Given the description of an element on the screen output the (x, y) to click on. 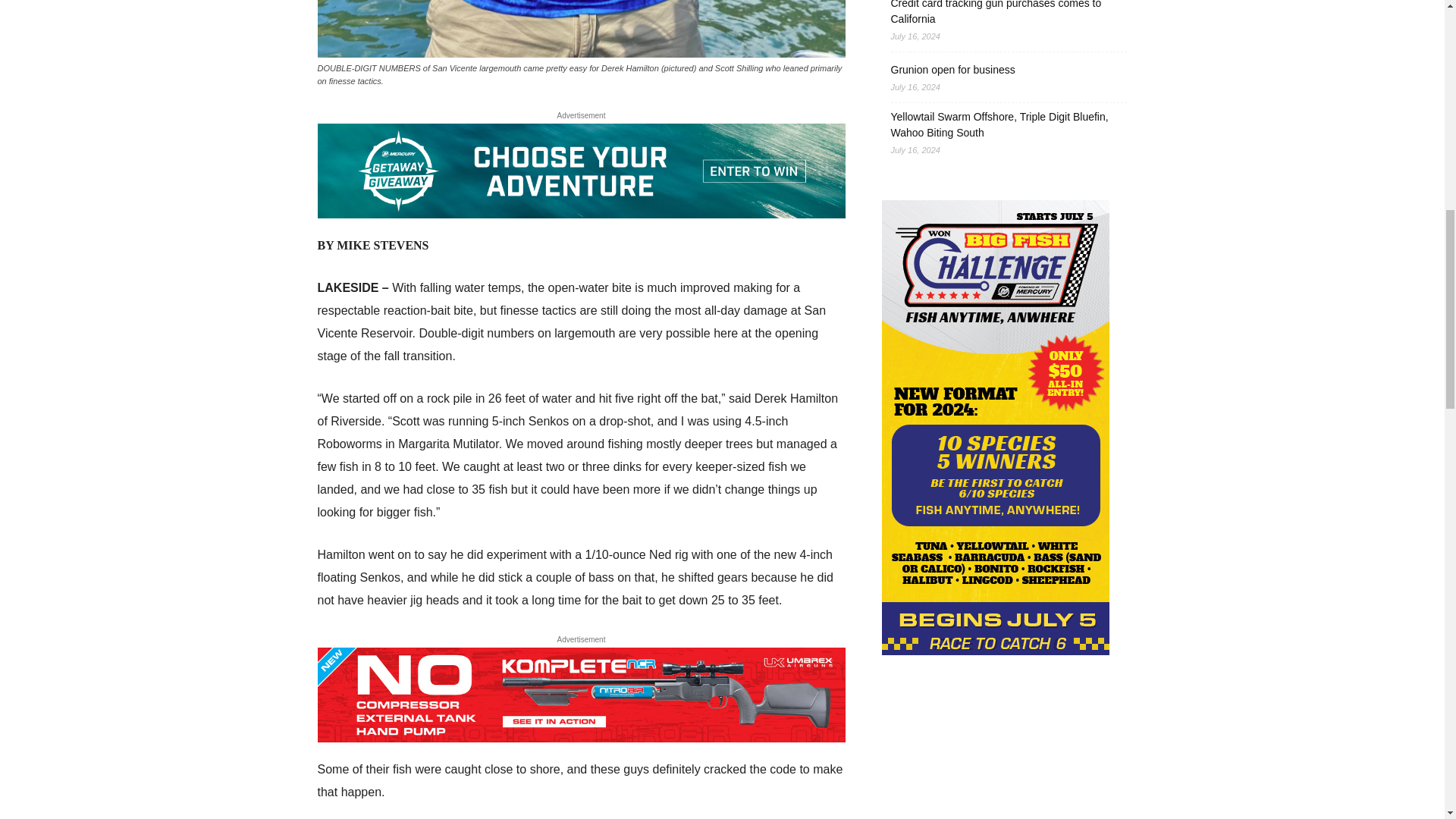
DOUBLE DIGIT NUMBERS (580, 28)
